Given the description of an element on the screen output the (x, y) to click on. 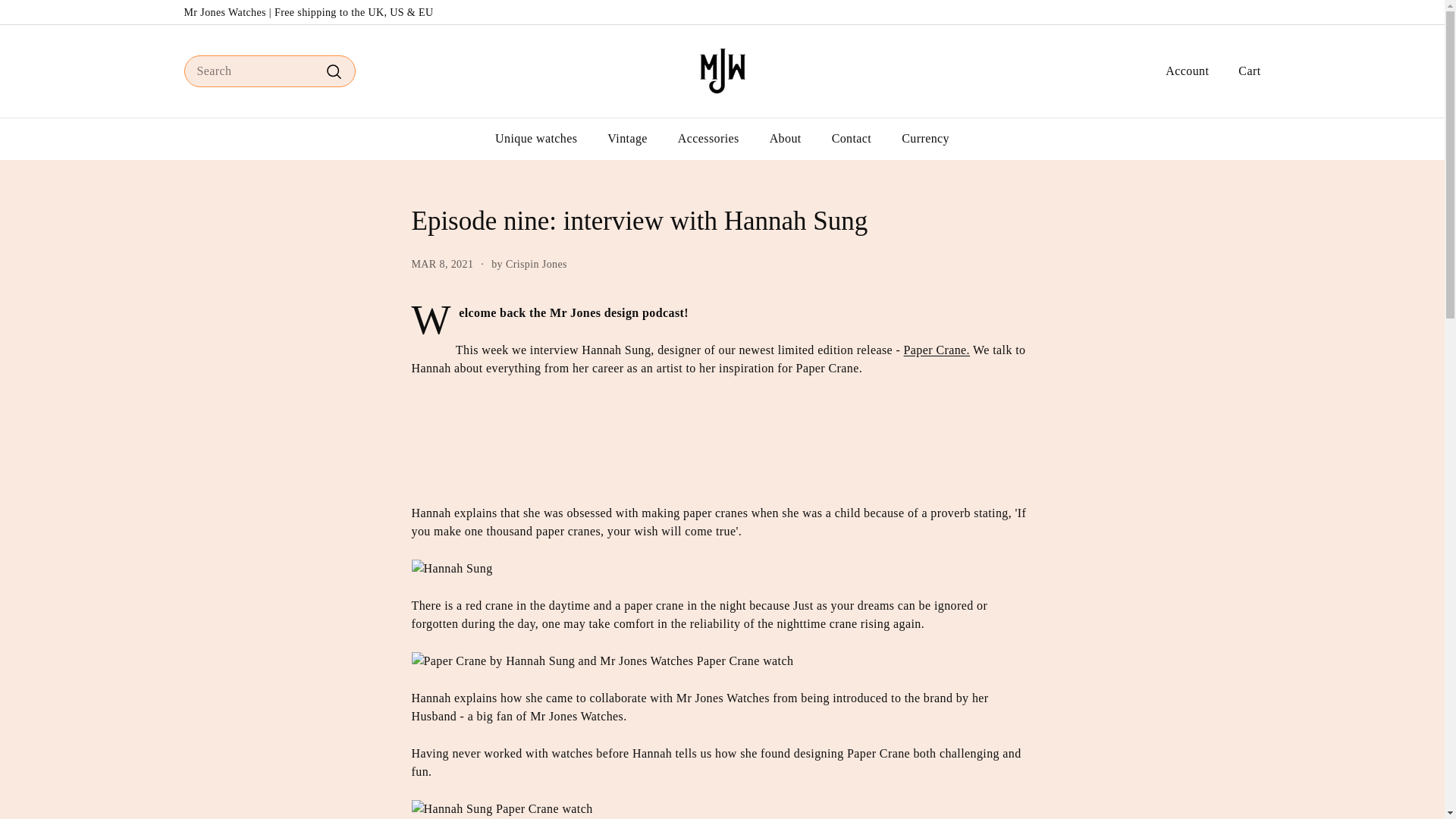
Cart (1243, 70)
Mr Jones Watches EU on TikTok (1256, 12)
Mr Jones Watches EU on YouTube (1248, 12)
TikTok (1256, 12)
Hannah sung paper crane (936, 349)
Instagram (1233, 12)
Account (1180, 70)
Facebook (1240, 12)
YouTube (1248, 12)
Mr Jones Watches EU on Facebook (1240, 12)
Mr Jones Watches EU on Instagram (1233, 12)
